Given the description of an element on the screen output the (x, y) to click on. 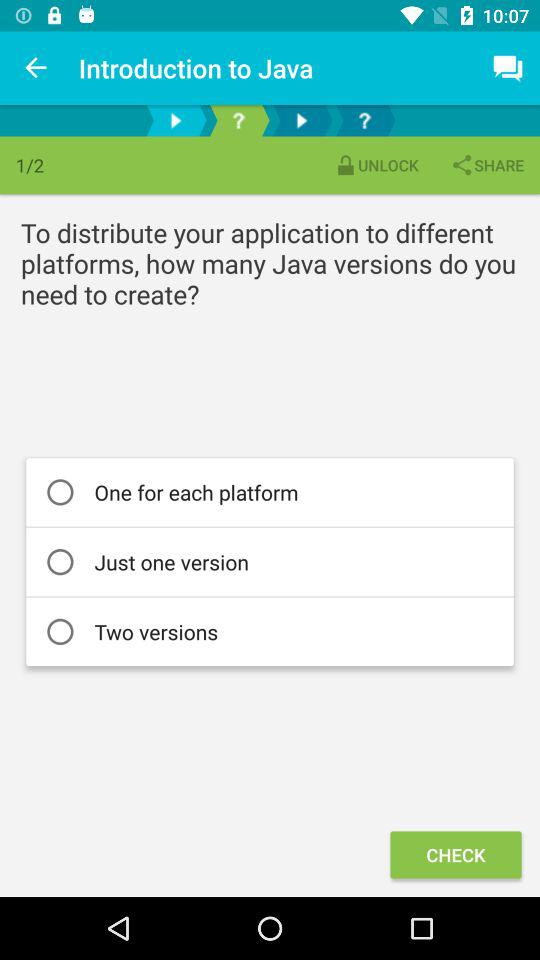
scroll to unlock icon (375, 164)
